Given the description of an element on the screen output the (x, y) to click on. 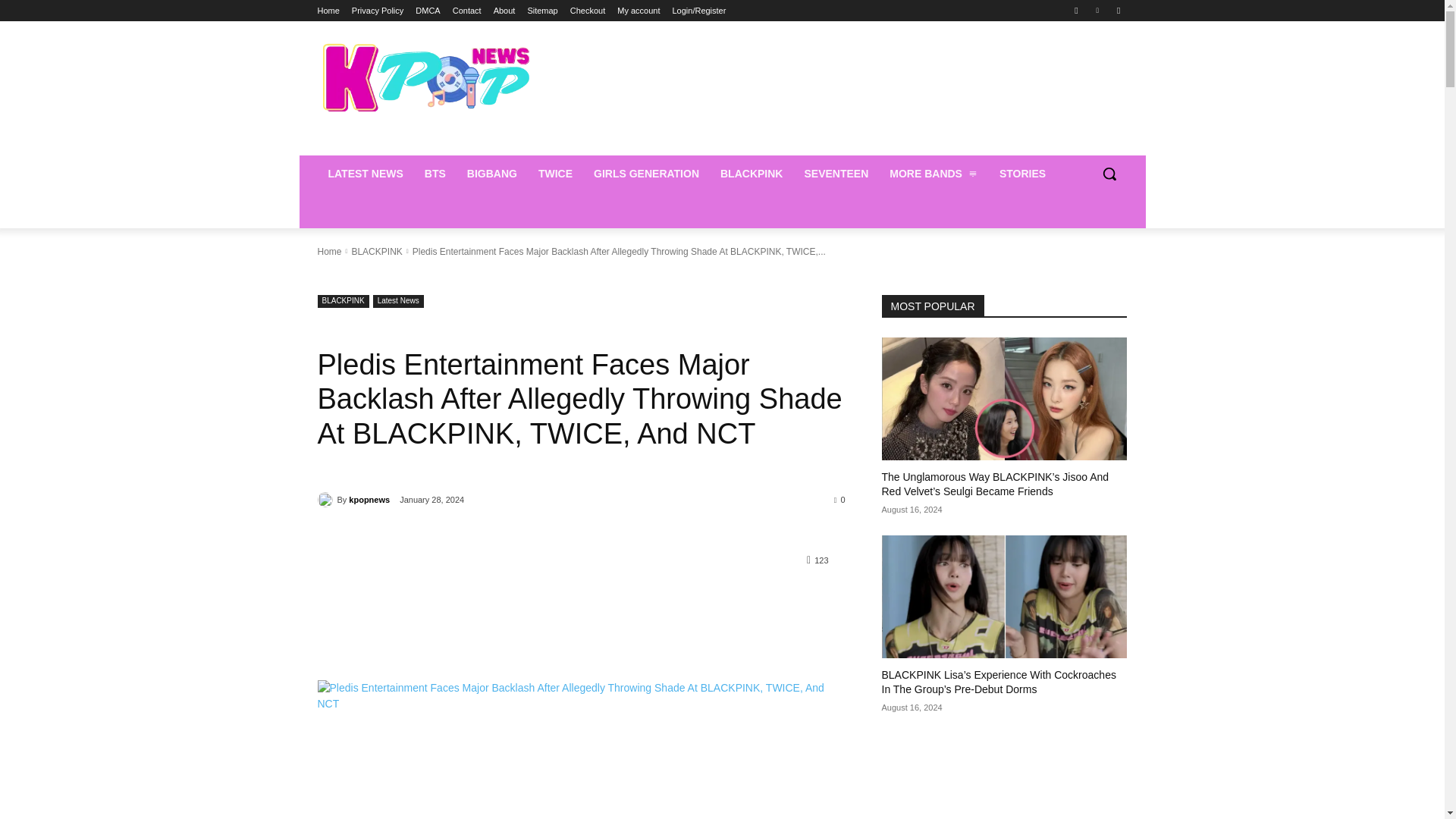
About (504, 10)
Pinterest (1097, 9)
Privacy Policy (377, 10)
My account (638, 10)
Home (328, 10)
LATEST NEWS (365, 173)
DMCA (426, 10)
kpopnews (326, 499)
KPOP News Logo (425, 77)
Sitemap (542, 10)
